Given the description of an element on the screen output the (x, y) to click on. 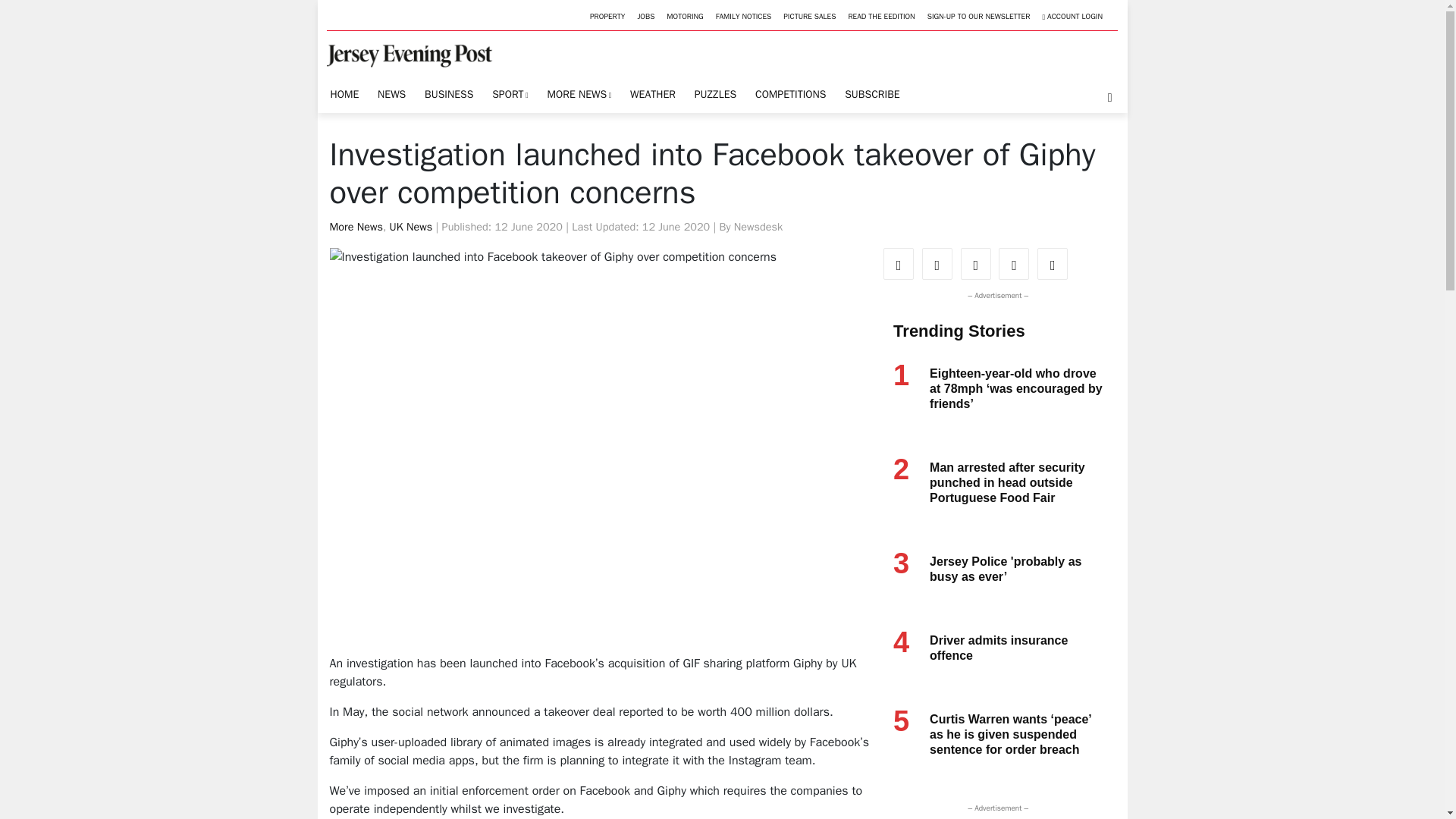
FAMILY NOTICES (743, 16)
JOBS (645, 16)
WEATHER (652, 94)
PROPERTY (606, 16)
NEWS (391, 94)
ACCOUNT LOGIN (1071, 16)
PICTURE SALES (809, 16)
READ THE EEDITION (880, 16)
PUZZLES (714, 94)
SUBSCRIBE (871, 94)
